Given the description of an element on the screen output the (x, y) to click on. 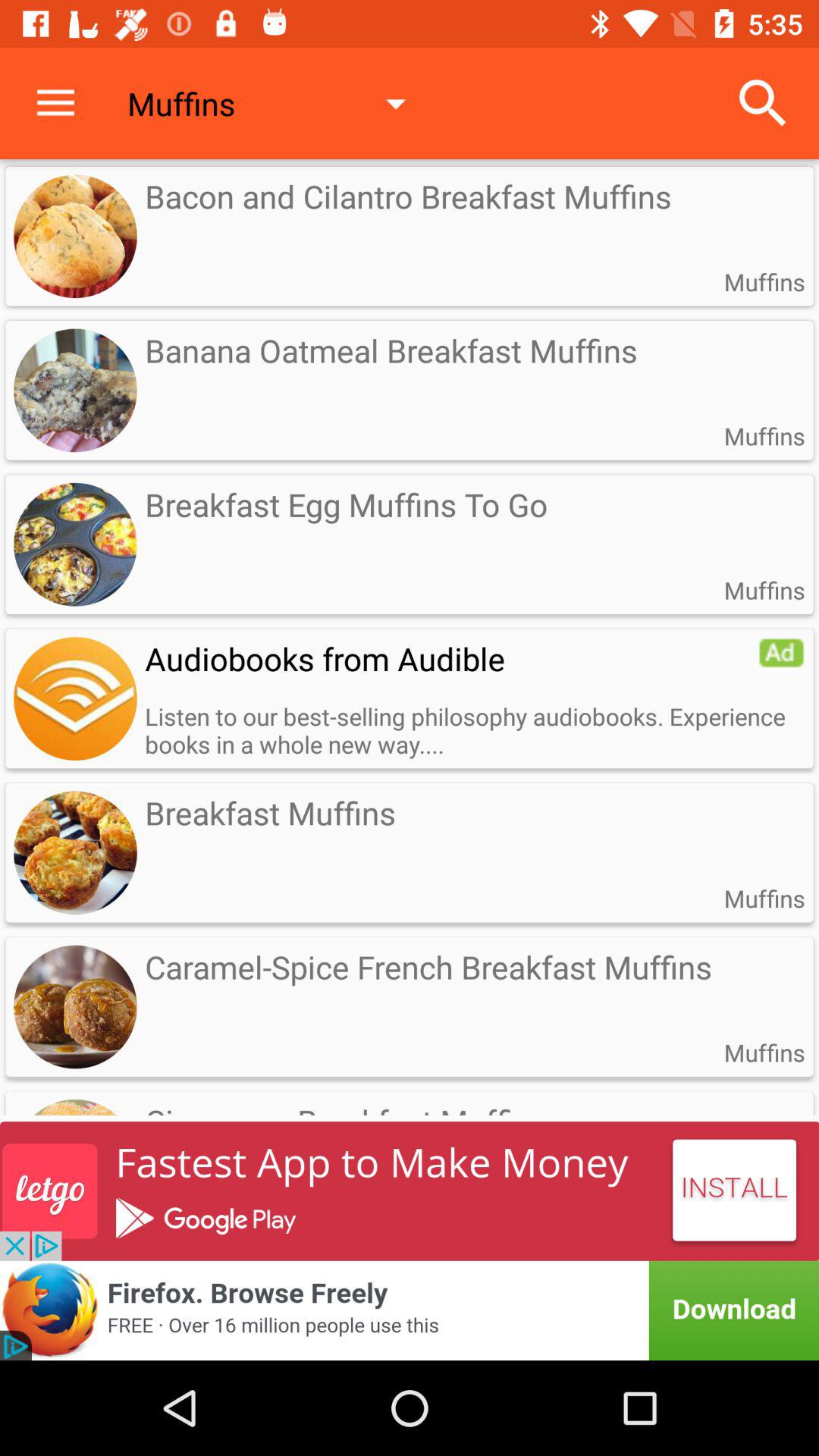
advertisement banner (409, 1310)
